Given the description of an element on the screen output the (x, y) to click on. 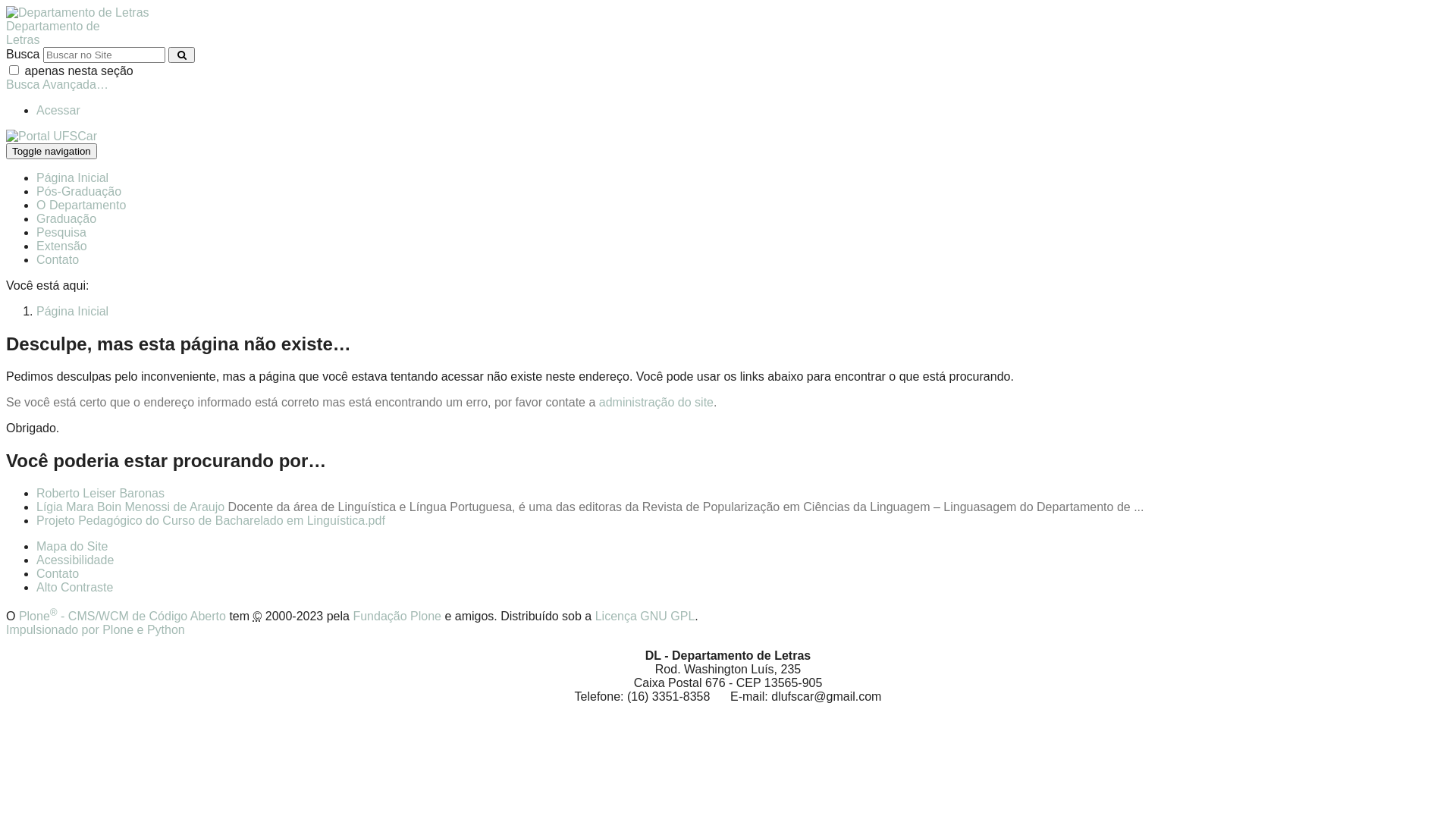
Departamento de
Letras Element type: text (727, 26)
Acessar Element type: text (58, 109)
Roberto Leiser Baronas Element type: text (100, 492)
Pesquisa Element type: text (61, 231)
Alto Contraste Element type: text (74, 586)
Portal UFSCar Element type: hover (51, 135)
Contato Element type: text (57, 259)
Contato Element type: text (57, 573)
Buscar no Site Element type: hover (104, 54)
Acessibilidade Element type: text (74, 559)
Mapa do Site Element type: text (71, 545)
O Departamento Element type: text (80, 204)
Departamento de Letras Element type: hover (77, 12)
Impulsionado por Plone e Python Element type: text (95, 629)
Toggle navigation Element type: text (51, 151)
